Given the description of an element on the screen output the (x, y) to click on. 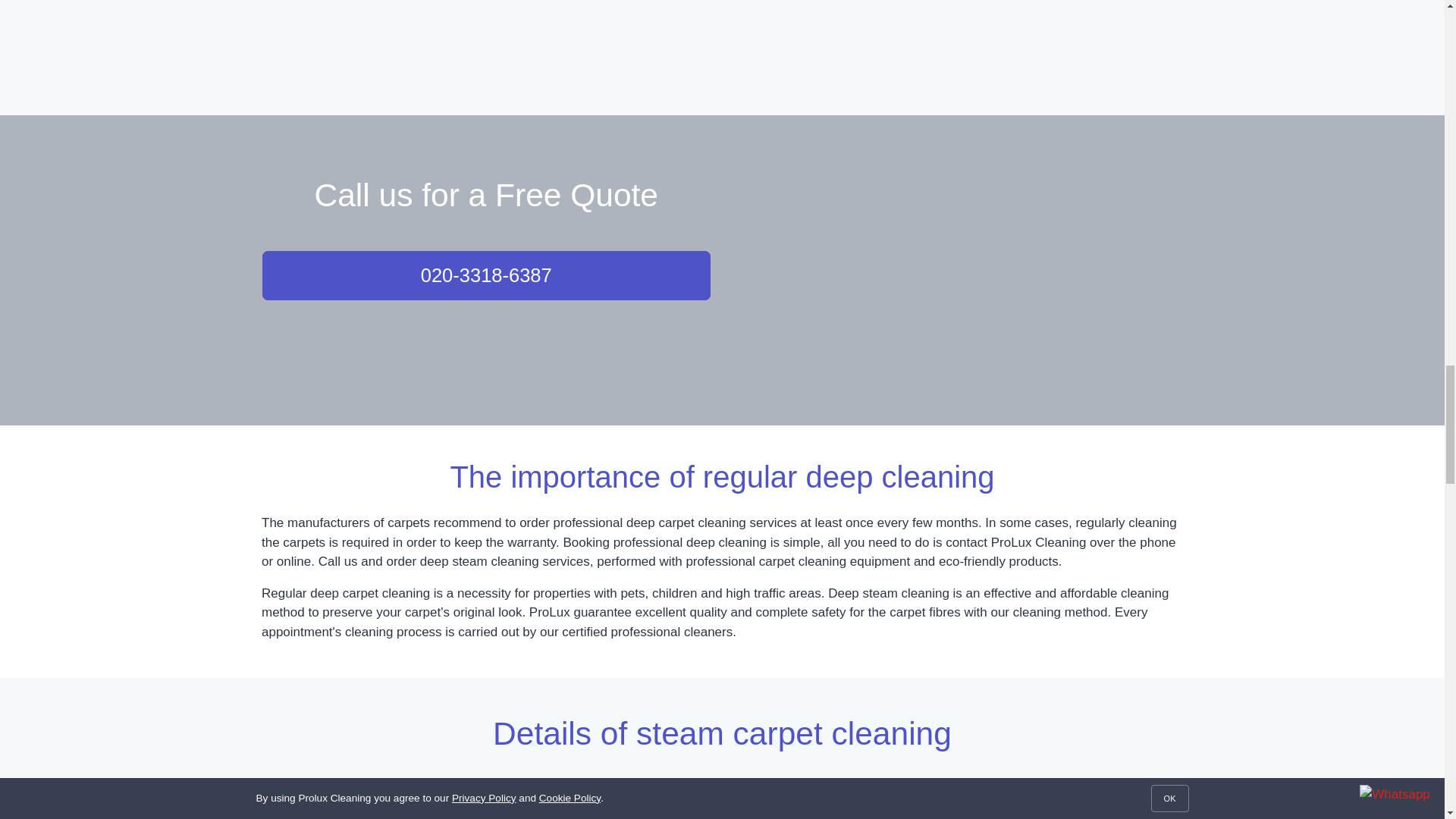
020-3318-6387 (486, 274)
